Given the description of an element on the screen output the (x, y) to click on. 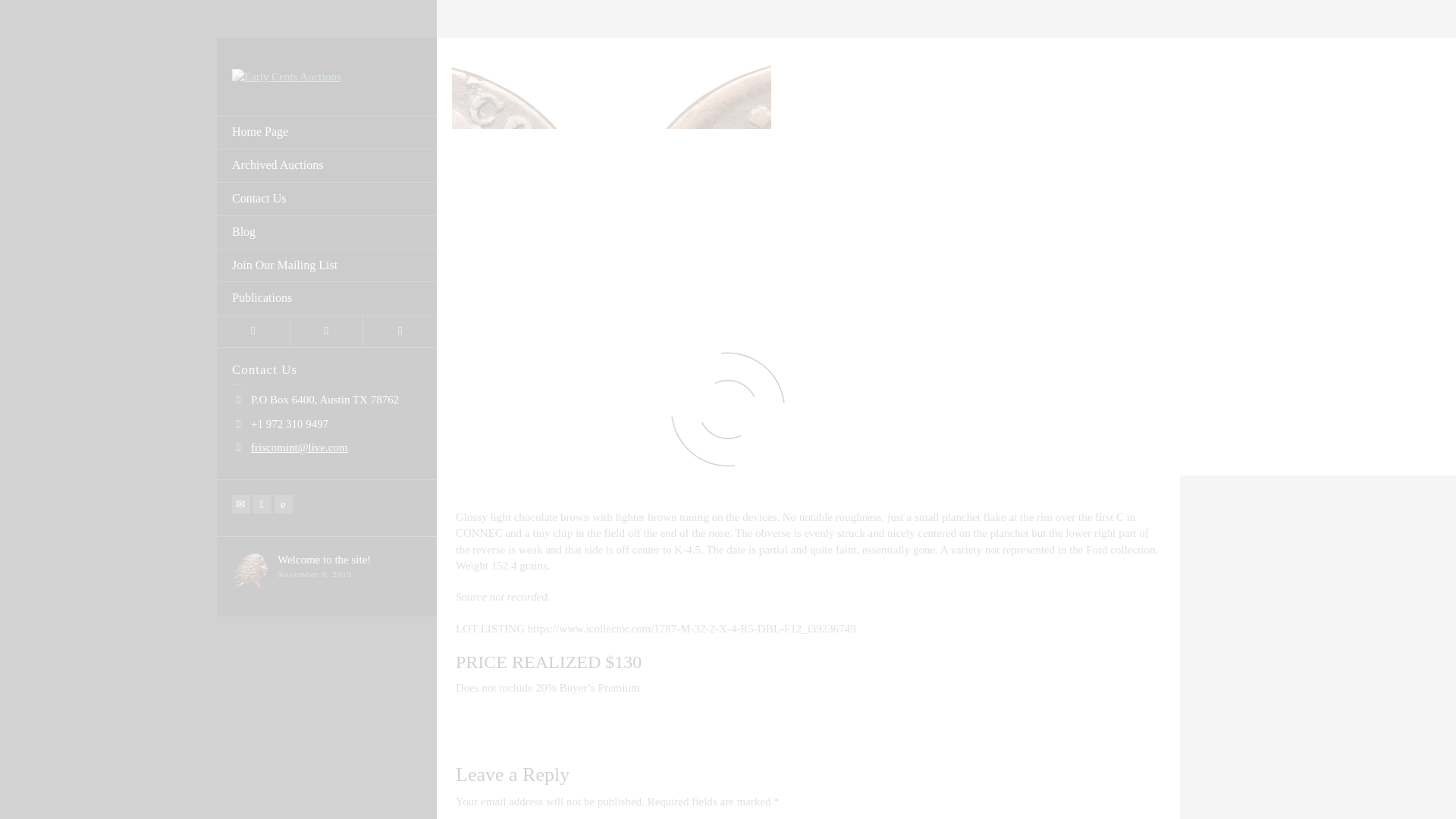
Welcome to the site! (324, 559)
eBay (283, 504)
Archived Auctions (326, 165)
Welcome to the site! (324, 559)
Login (252, 330)
Contact Us (326, 199)
Early Cents Auctions (285, 75)
Facebook (261, 504)
Home Page (326, 132)
Publications (326, 298)
Search (399, 330)
Join Our Mailing List (326, 265)
Cart (326, 330)
Email (240, 504)
Blog (326, 232)
